Given the description of an element on the screen output the (x, y) to click on. 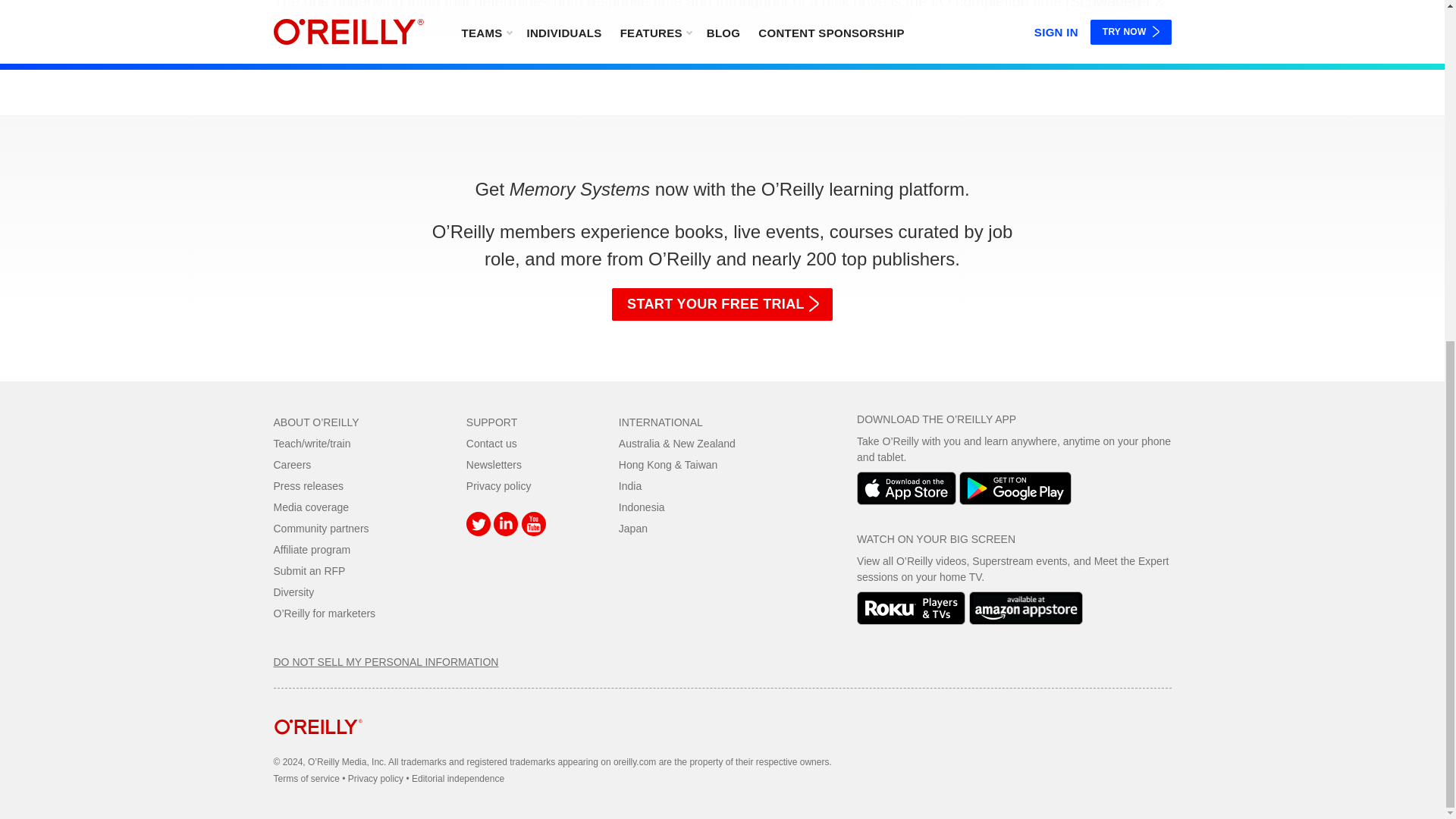
Affiliate program (311, 549)
Careers (292, 464)
Submit an RFP (309, 571)
Media coverage (311, 507)
START YOUR FREE TRIAL (721, 304)
Press releases (308, 485)
home page (317, 745)
Ng 1998 (397, 24)
Diversity (293, 592)
Community partners (320, 528)
